Given the description of an element on the screen output the (x, y) to click on. 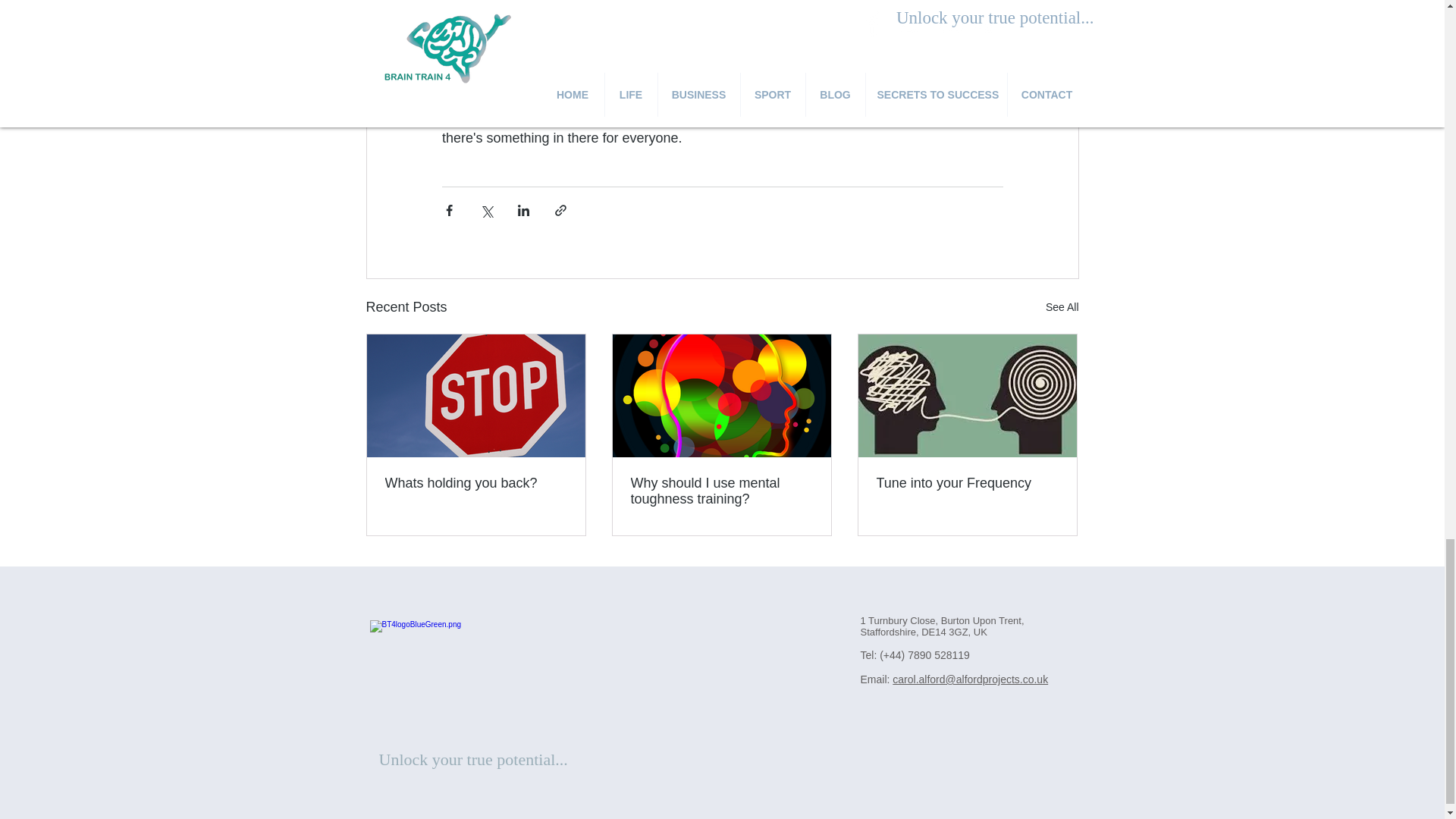
"Prepared to Win" (719, 45)
Whats holding you back? (476, 483)
See All (1061, 307)
Why should I use mental toughness training? (721, 490)
Tune into your Frequency (967, 483)
